Given the description of an element on the screen output the (x, y) to click on. 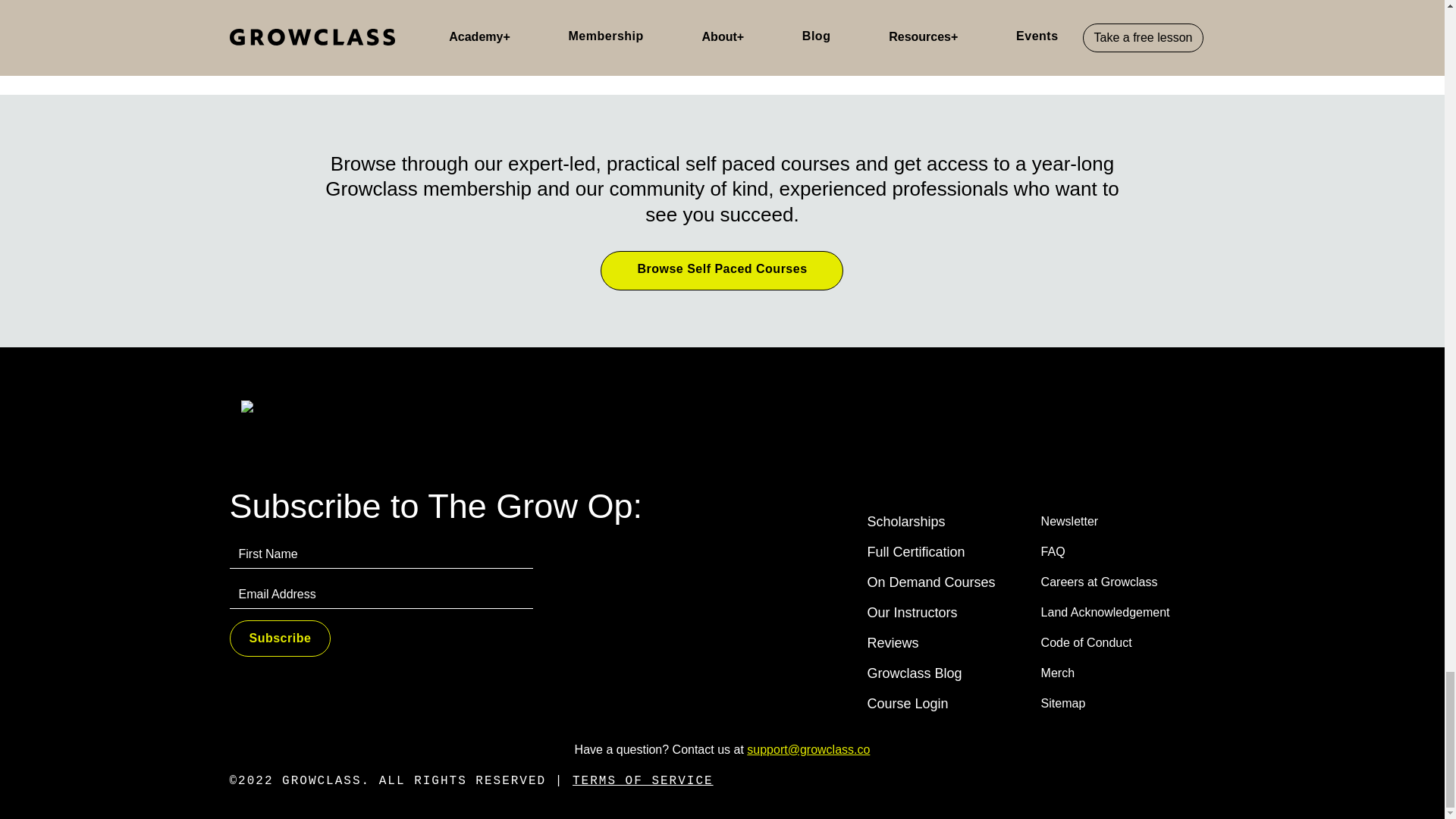
Scholarships (931, 521)
Subscribe (279, 637)
On Demand Courses (931, 581)
Our Instructors (931, 612)
Subscribe (279, 637)
Full Certification (931, 551)
Browse Self Paced Courses (721, 270)
